Given the description of an element on the screen output the (x, y) to click on. 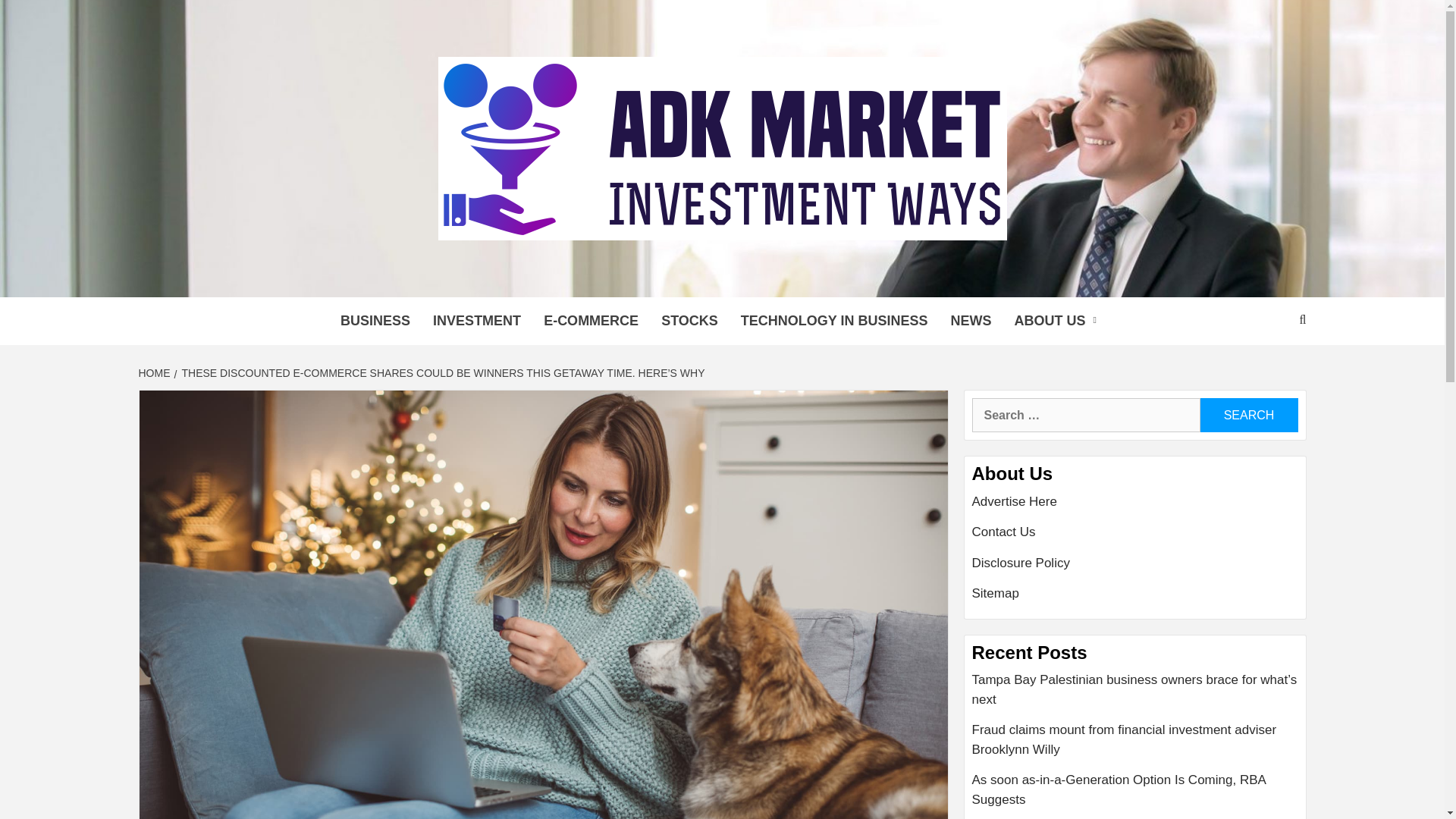
Search (1248, 415)
ABOUT US (1059, 320)
As soon as-in-a-Generation Option Is Coming, RBA Suggests (1135, 794)
TECHNOLOGY IN BUSINESS (834, 320)
Advertise Here (1135, 507)
Contact Us (1135, 537)
BUSINESS (375, 320)
Search (1248, 415)
STOCKS (689, 320)
ADK MARKET (396, 278)
Disclosure Policy (1135, 568)
E-COMMERCE (590, 320)
Search (1248, 415)
INVESTMENT (477, 320)
